Given the description of an element on the screen output the (x, y) to click on. 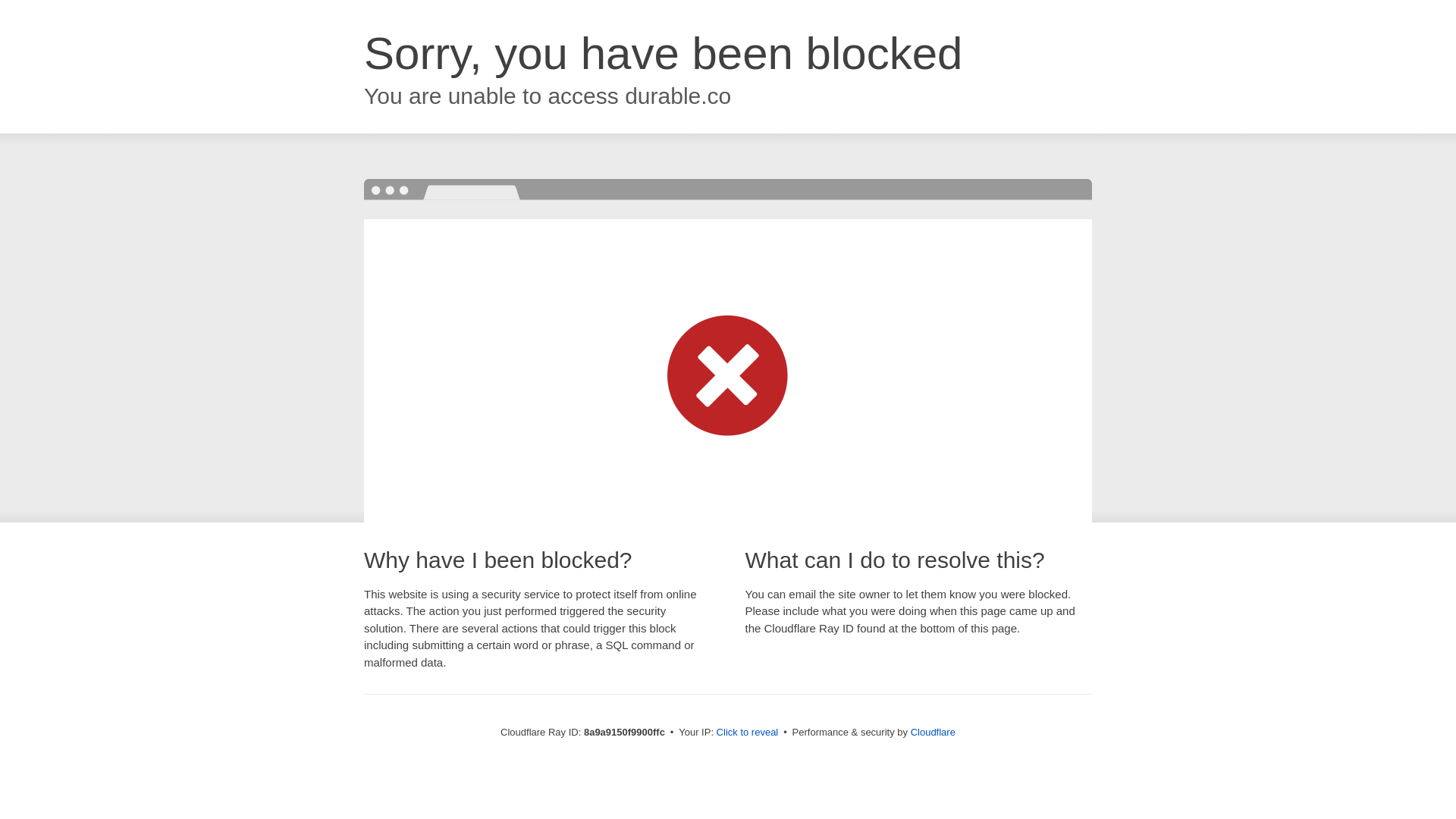
Click to reveal (747, 732)
Cloudflare (933, 731)
